Given the description of an element on the screen output the (x, y) to click on. 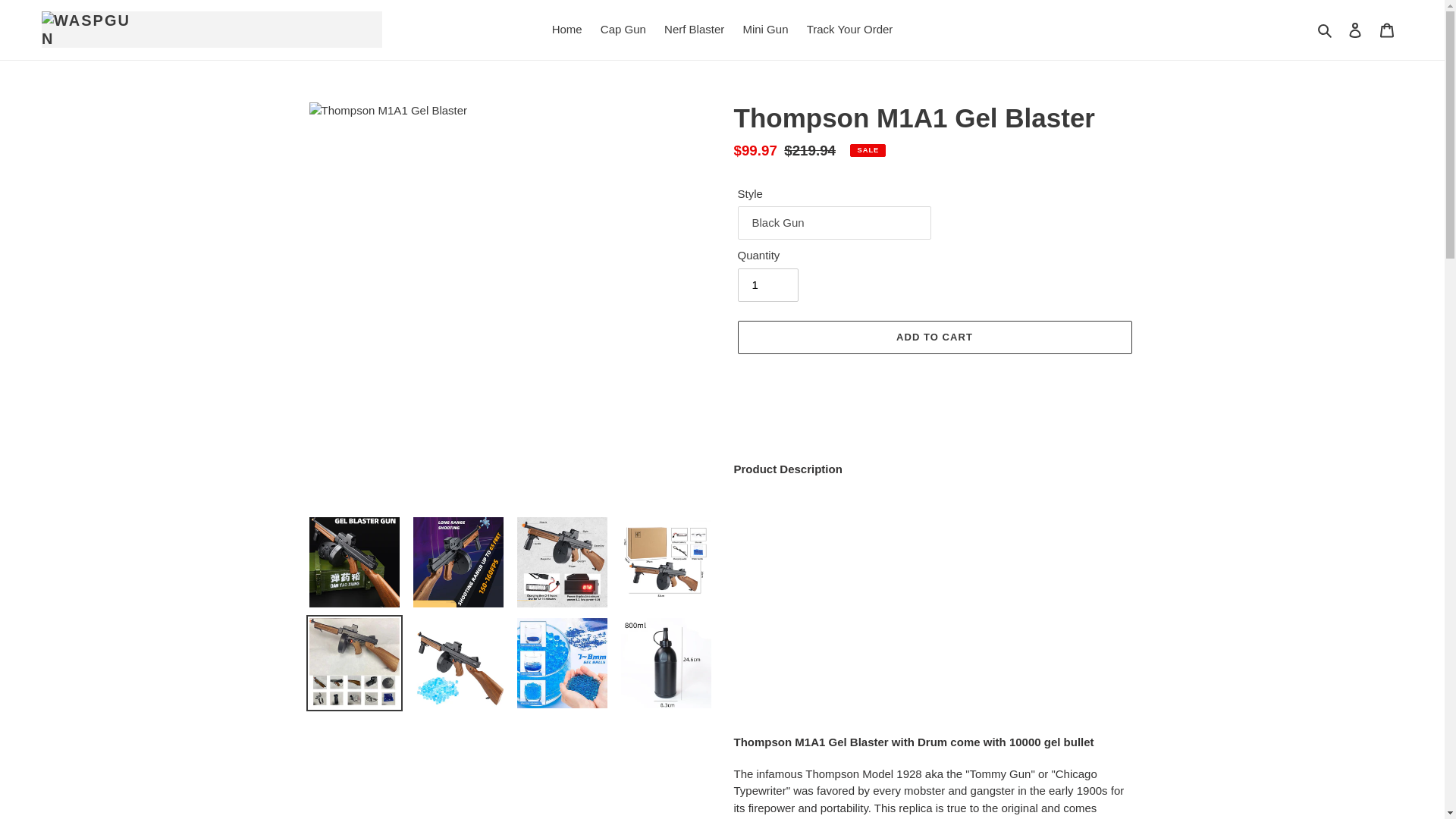
Mini Gun (764, 29)
1 (766, 285)
Cap Gun (622, 29)
Home (566, 29)
YouTube video player (934, 606)
Nerf Blaster (694, 29)
ADD TO CART (933, 337)
Log in (1355, 29)
Track Your Order (850, 29)
Search (1326, 29)
